Given the description of an element on the screen output the (x, y) to click on. 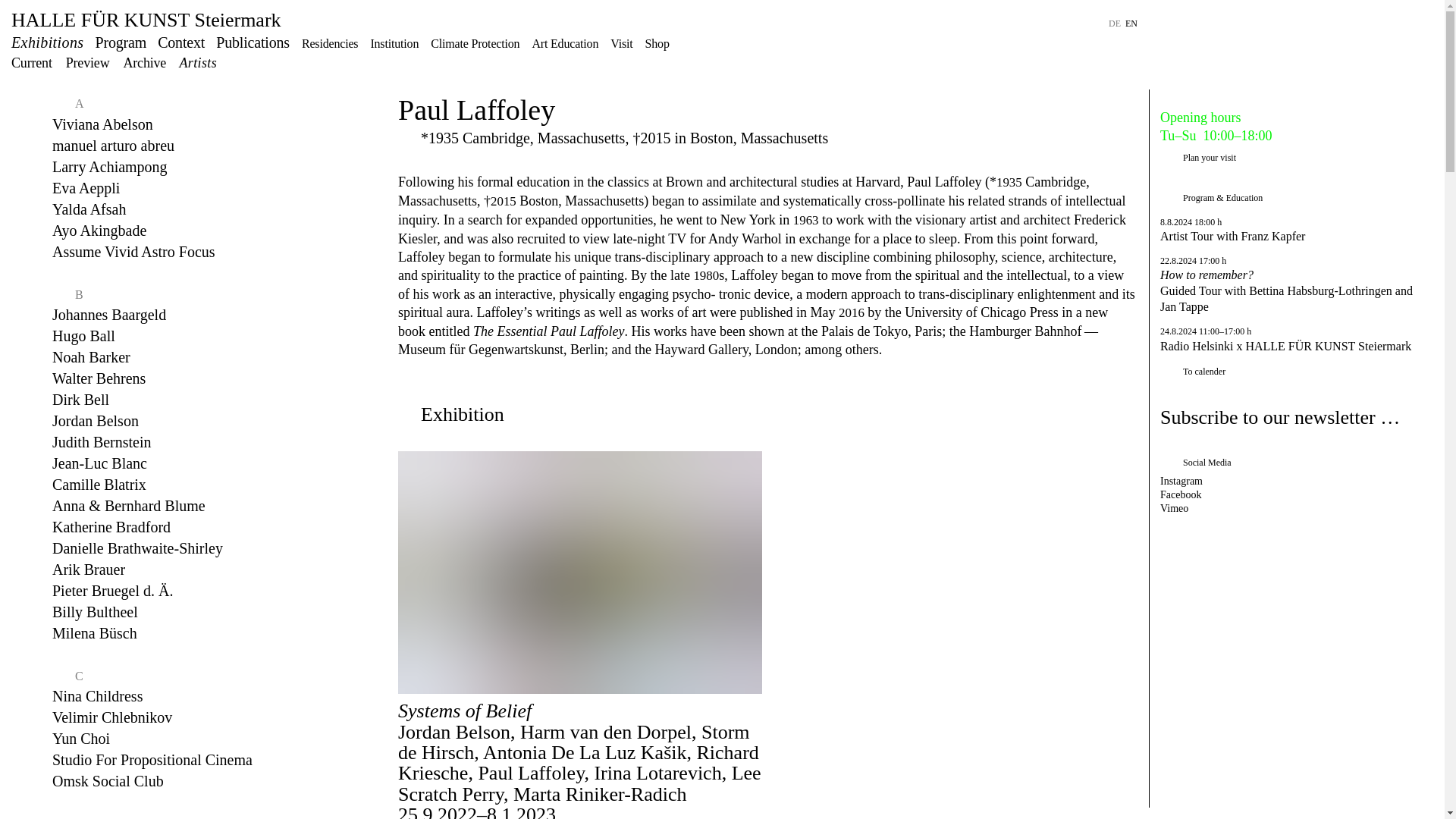
Artists (197, 62)
Exhibitions (47, 42)
Home (146, 20)
Archive (143, 62)
Preview (87, 62)
Climate Protection (474, 42)
Institution (394, 42)
Deutsch (1114, 23)
Current (31, 62)
Publications (252, 42)
